Given the description of an element on the screen output the (x, y) to click on. 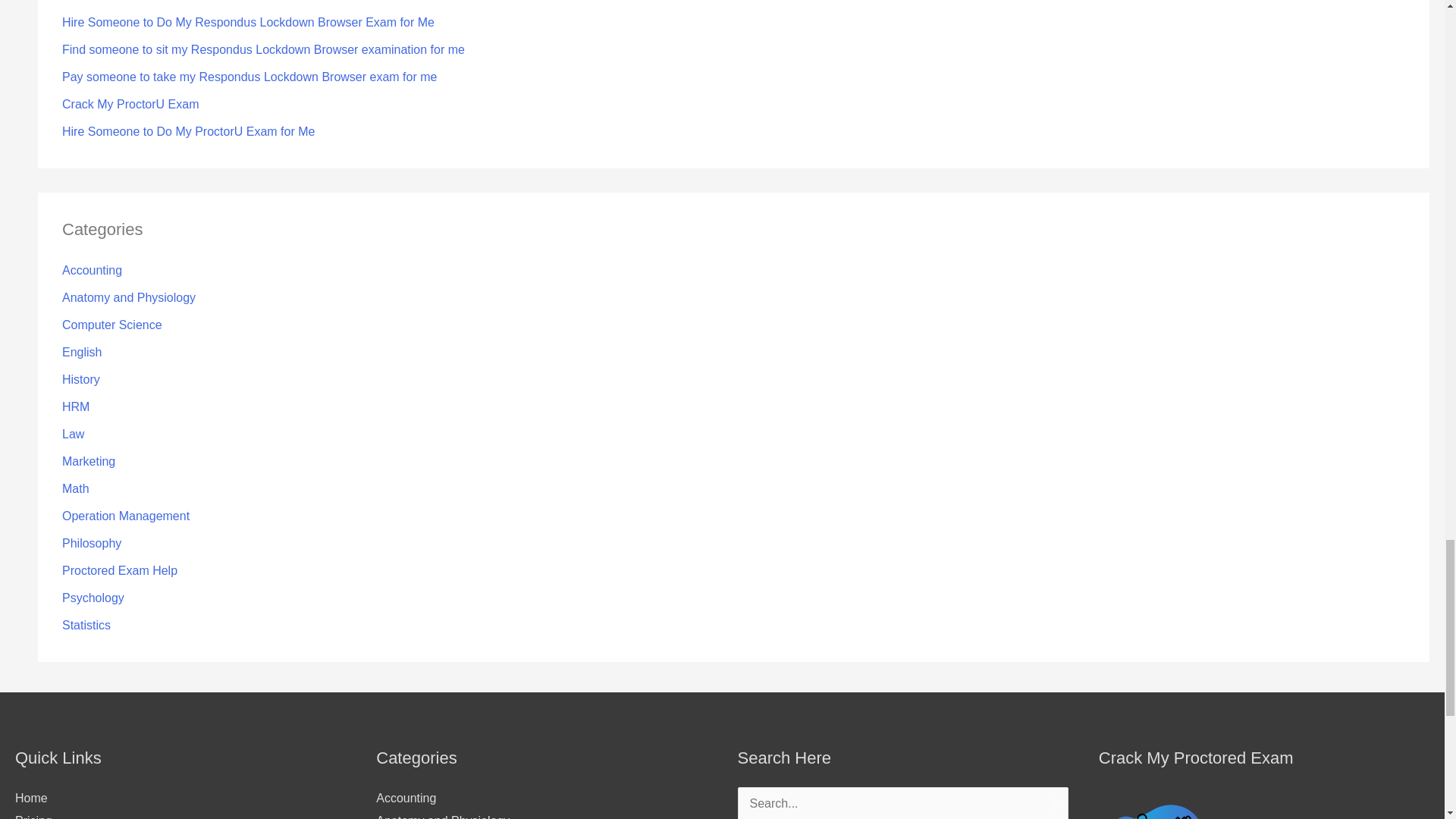
Accounting (92, 269)
English (81, 351)
Anatomy and Physiology (128, 297)
Math (75, 488)
Crack My ProctorU Exam (130, 103)
Marketing (88, 461)
Hire Someone to Do My Respondus Lockdown Browser Exam for Me (247, 21)
Philosophy (91, 543)
Computer Science (111, 324)
